Given the description of an element on the screen output the (x, y) to click on. 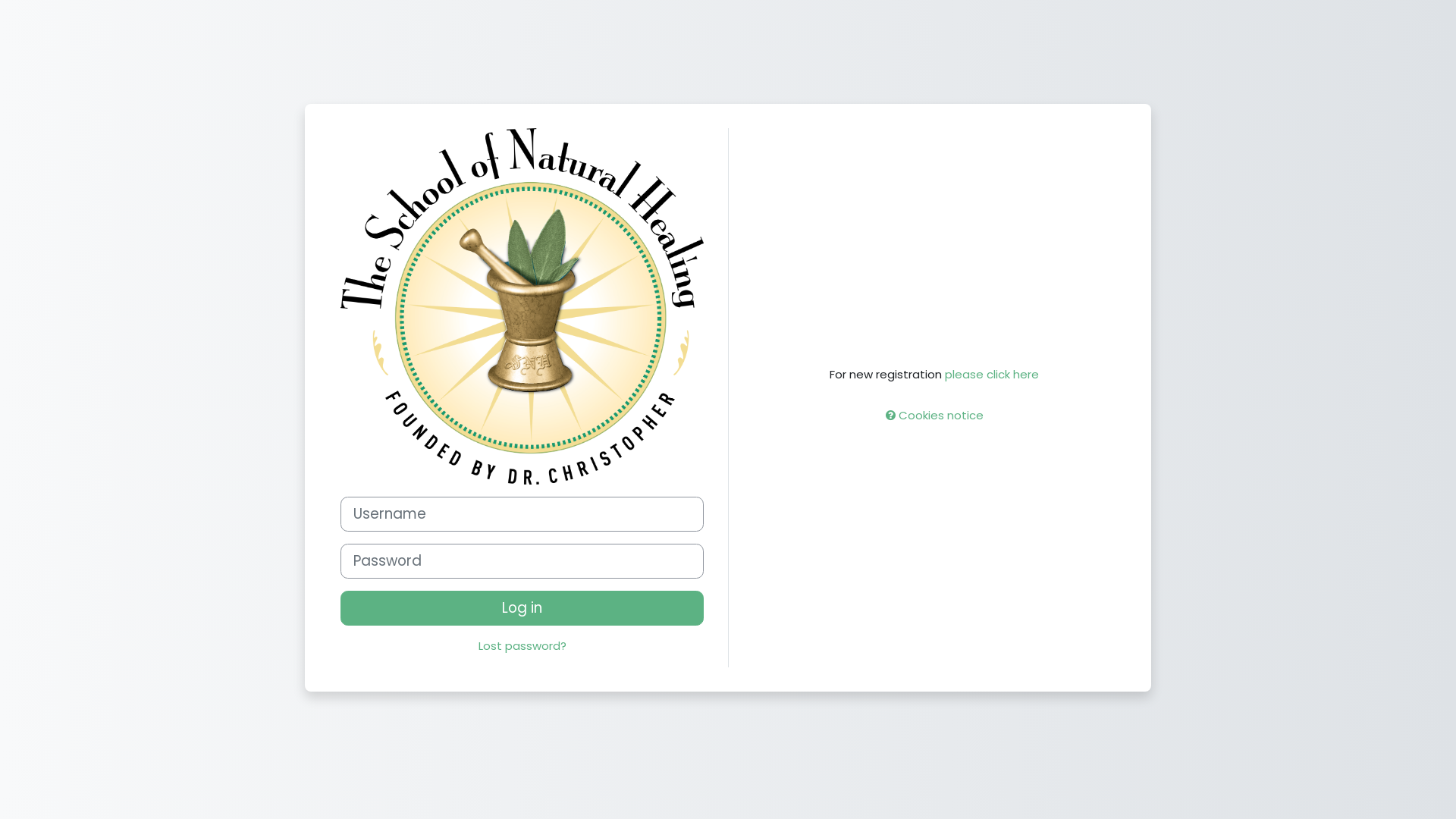
Lost password? Element type: text (521, 645)
please click here Element type: text (991, 374)
Log in Element type: text (521, 607)
Cookies notice Element type: text (933, 415)
